Given the description of an element on the screen output the (x, y) to click on. 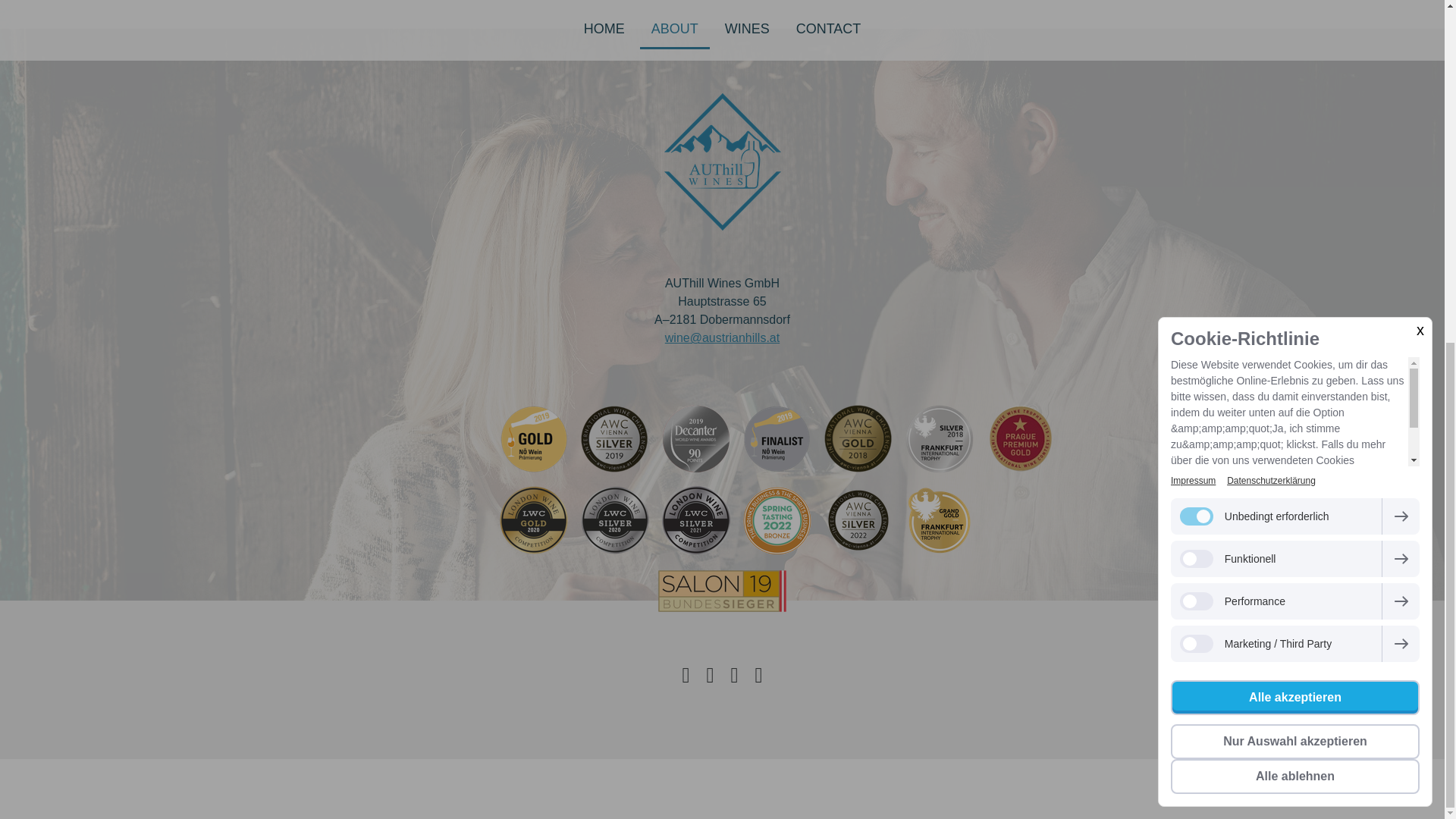
E-Mail (733, 675)
Sitemap (539, 781)
Cookie-Richtlinie (478, 781)
Twitter (709, 675)
design by kiss (354, 796)
Impressum (348, 781)
LinkedIn (758, 675)
Datenschutz (406, 781)
Facebook (685, 675)
